Given the description of an element on the screen output the (x, y) to click on. 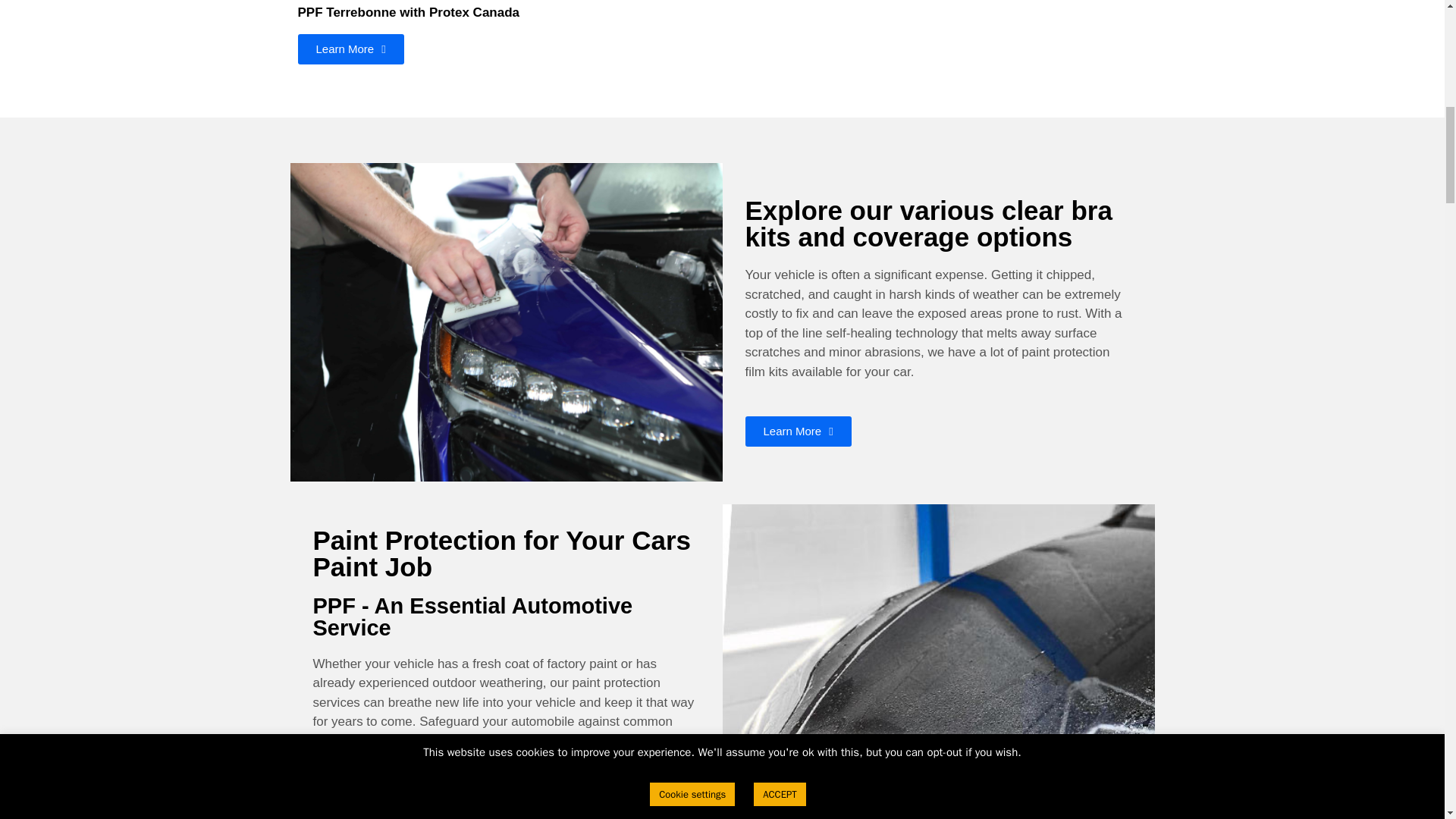
Scroll back to top (1406, 720)
